Given the description of an element on the screen output the (x, y) to click on. 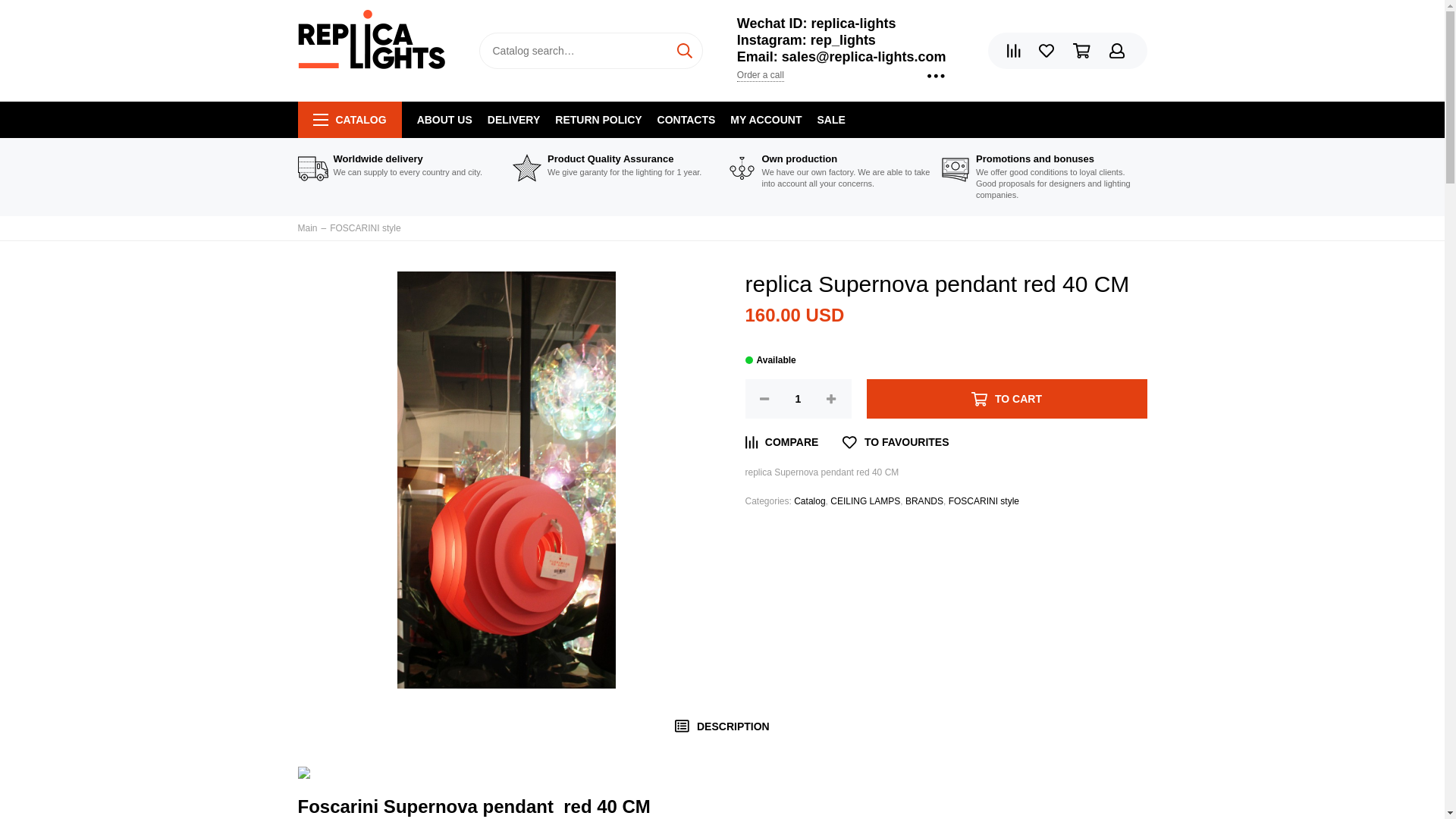
Wechat ID: replica-lights (816, 23)
RETURN POLICY (598, 119)
ABOUT US (443, 119)
CATALOG (349, 119)
MY ACCOUNT (766, 119)
CONTACTS (687, 119)
DELIVERY (513, 119)
